Given the description of an element on the screen output the (x, y) to click on. 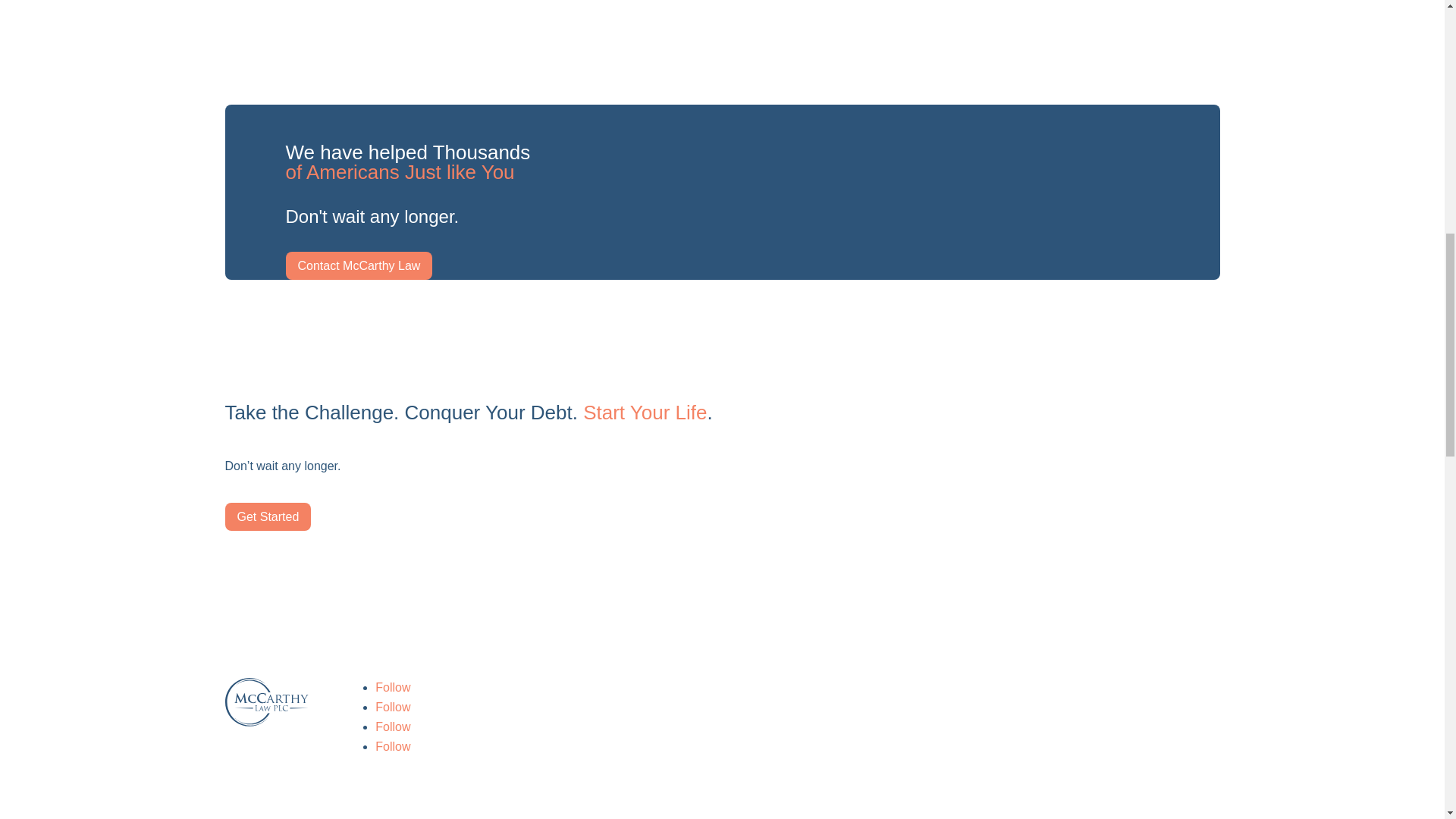
Follow (392, 686)
Follow (392, 726)
Follow on X (392, 707)
Get Started (267, 516)
Follow (392, 746)
Follow on Facebook (392, 686)
Contact McCarthy Law (358, 265)
McCarthy Law PLC logo (266, 702)
Follow (392, 707)
Follow on Youtube (392, 726)
